Given the description of an element on the screen output the (x, y) to click on. 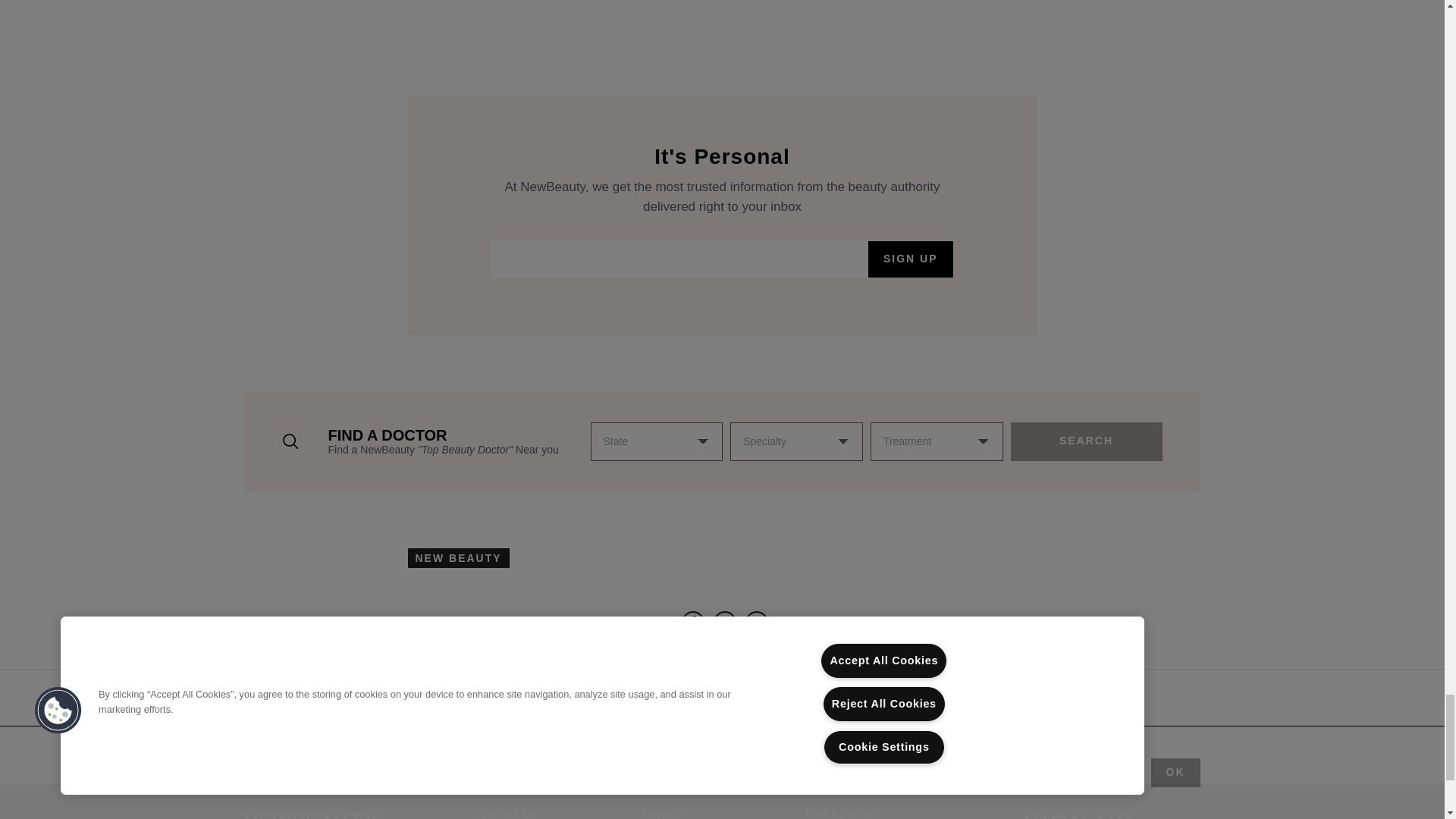
Sign Up (910, 259)
